Given the description of an element on the screen output the (x, y) to click on. 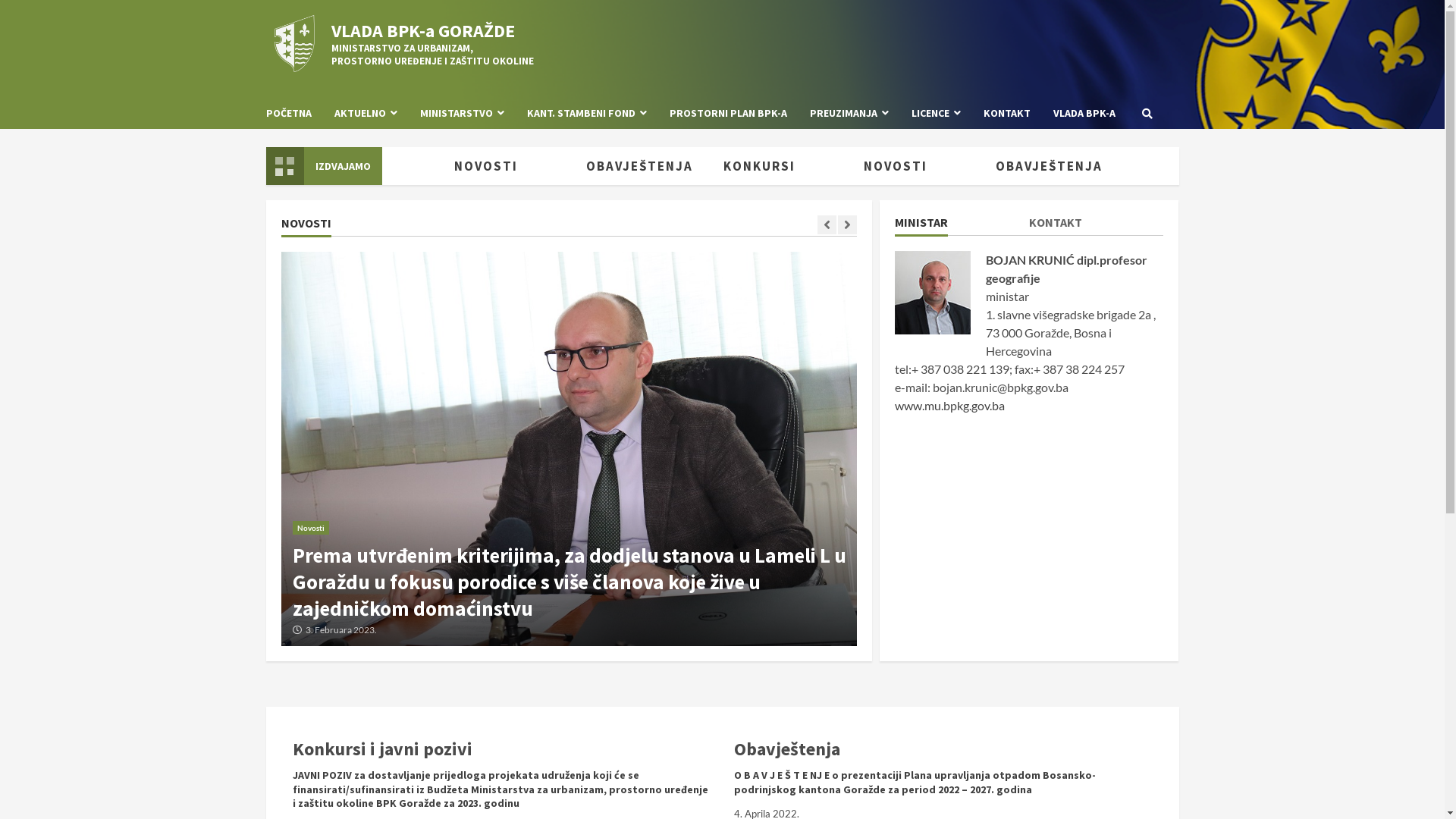
KONTAKT Element type: text (1006, 112)
LICENCE Element type: text (935, 112)
KANT. STAMBENI FOND Element type: text (586, 112)
www.mu.bpkg.gov.ba Element type: text (949, 405)
KONTAKT Element type: text (1055, 225)
NOVOSTI Element type: text (506, 166)
MINISTARSTVO Element type: text (460, 112)
Pretraga Element type: text (1113, 164)
PROSTORNI PLAN BPK-A Element type: text (728, 112)
AKTUELNO Element type: text (365, 112)
VLADA BPK-A Element type: text (1078, 112)
NOVOSTI Element type: text (915, 166)
KONKURSI Element type: text (370, 166)
Novosti Element type: text (310, 527)
MINISTAR Element type: text (920, 225)
KONKURSI Element type: text (779, 166)
PREUZIMANJA Element type: text (848, 112)
Search Element type: hover (1147, 112)
